Given the description of an element on the screen output the (x, y) to click on. 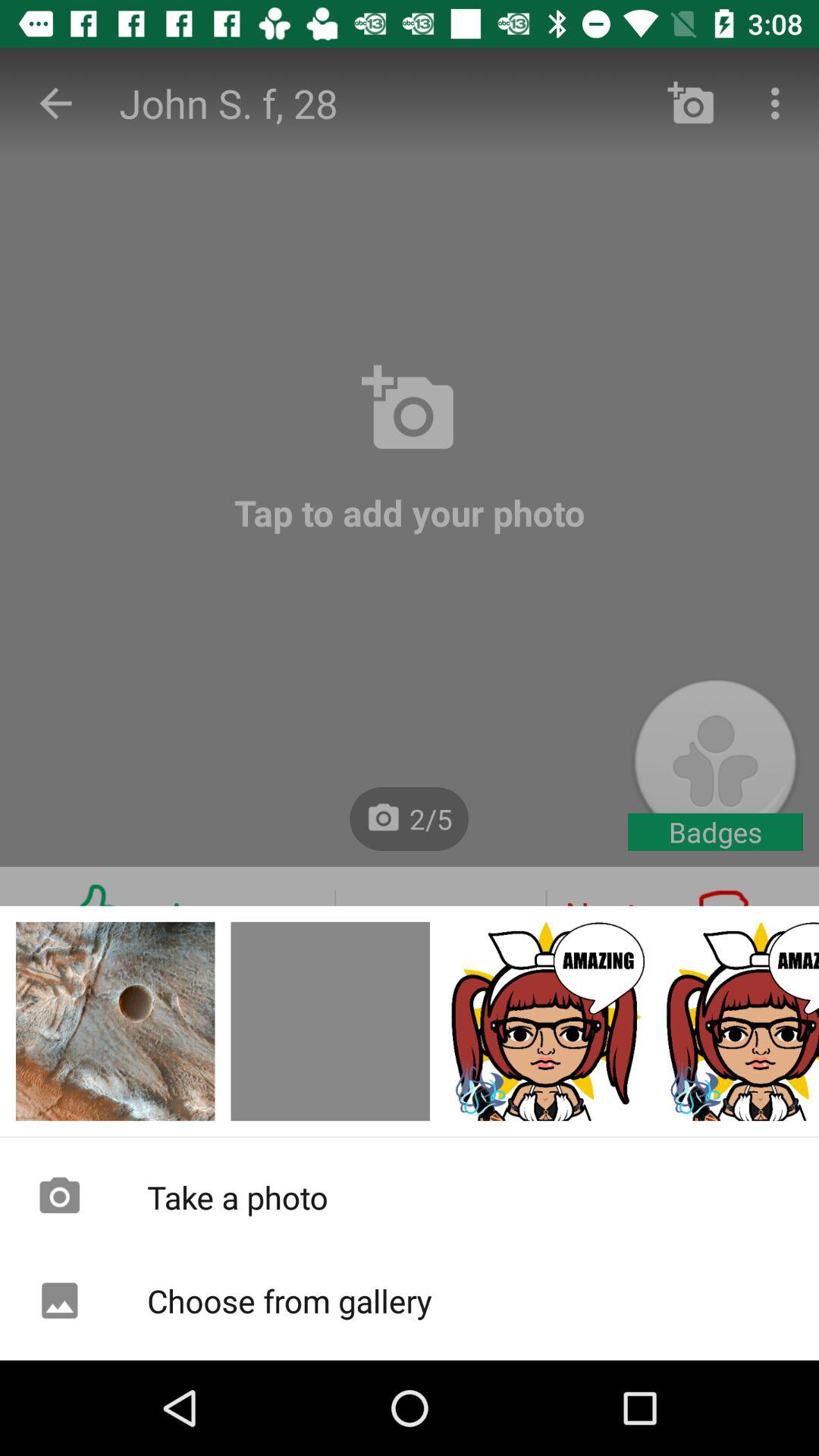
choose the choose from gallery icon (409, 1300)
